Given the description of an element on the screen output the (x, y) to click on. 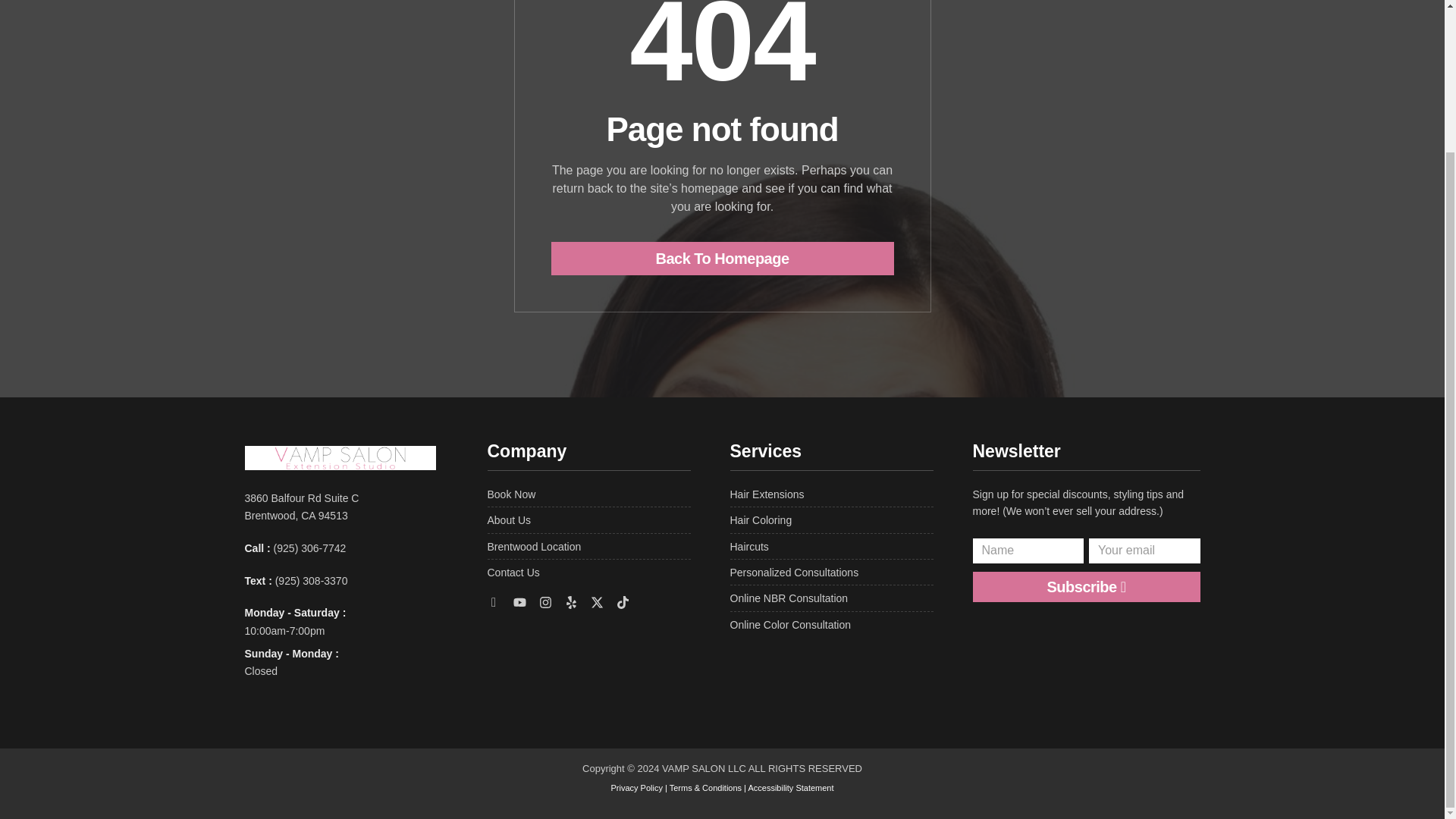
Back To Homepage (721, 258)
Hair Extensions (831, 494)
Hair Coloring (831, 519)
Brentwood Location (588, 546)
About Us (588, 519)
Haircuts (831, 546)
Contact Us (588, 572)
Book Now (588, 494)
